Given the description of an element on the screen output the (x, y) to click on. 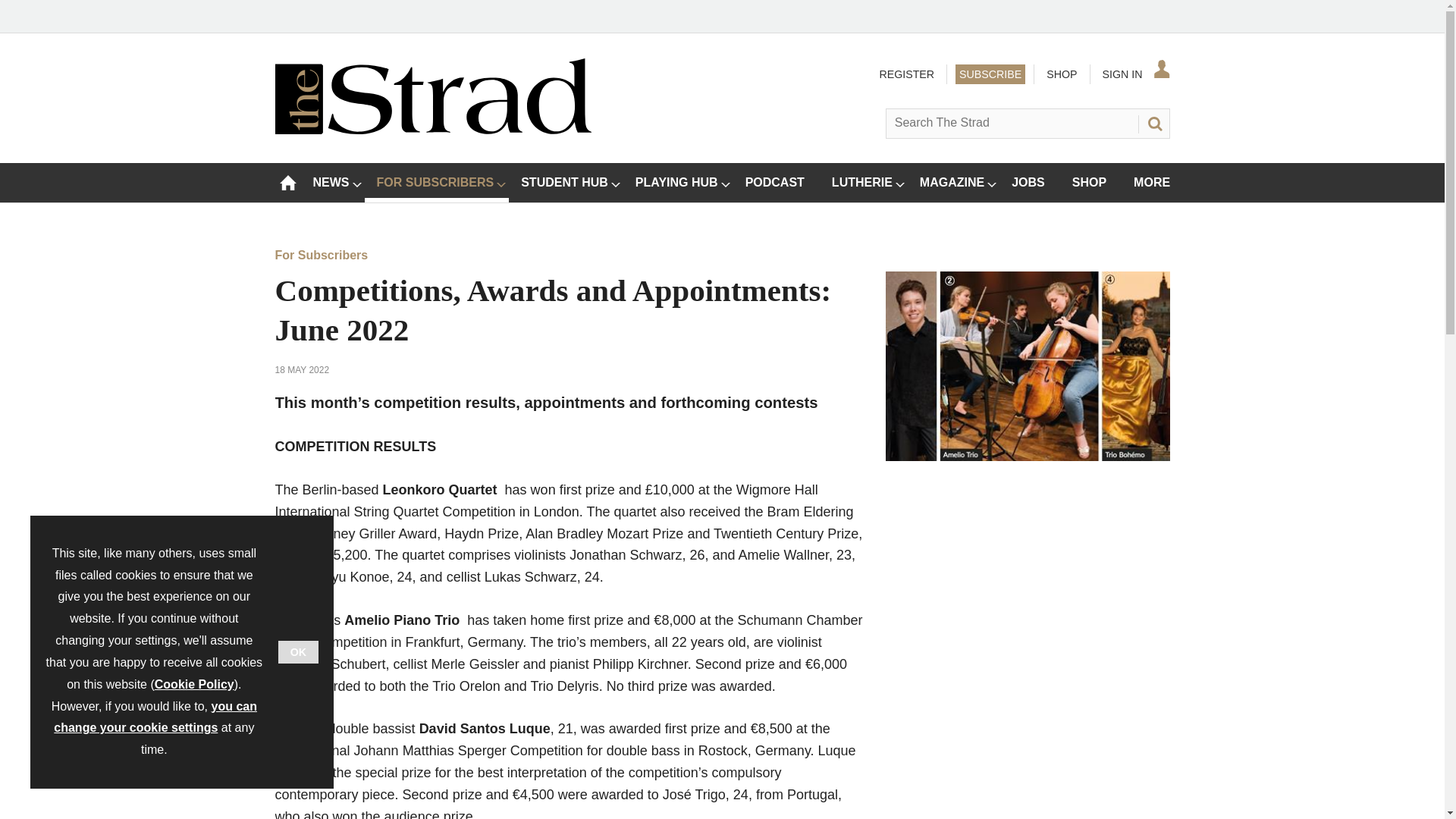
REGISTER (906, 74)
you can change your cookie settings (155, 717)
SIGN IN (1134, 74)
OK (298, 651)
SHOP (1061, 74)
Insert Logo text (433, 129)
SEARCH (1153, 123)
SUBSCRIBE (990, 74)
Cookie Policy (194, 684)
